Given the description of an element on the screen output the (x, y) to click on. 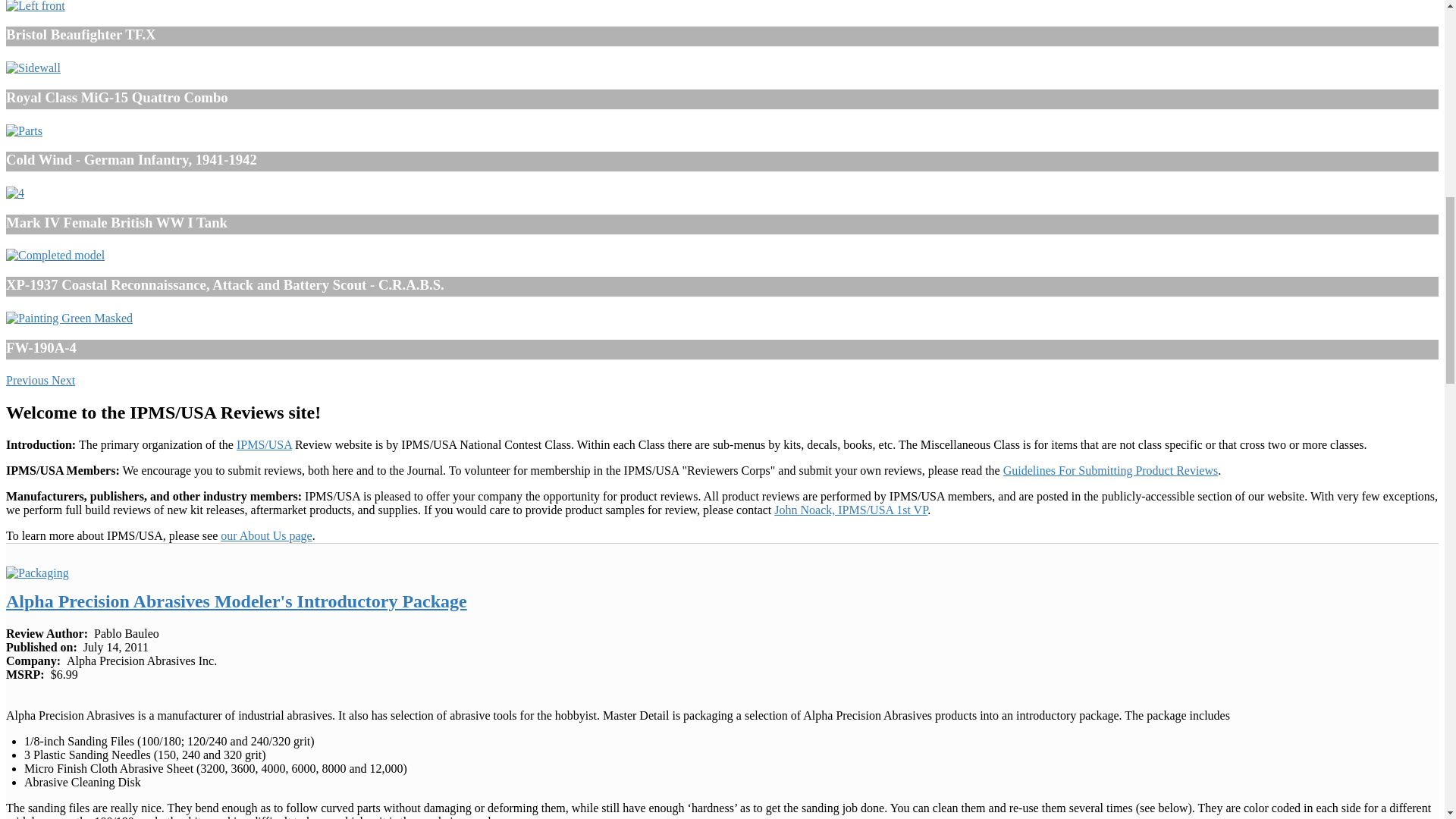
Sidewall (33, 68)
Previous (27, 379)
our About Us page (266, 535)
Guidelines For Submitting Product Reviews (1110, 470)
Parts (23, 131)
Next (62, 379)
